Given the description of an element on the screen output the (x, y) to click on. 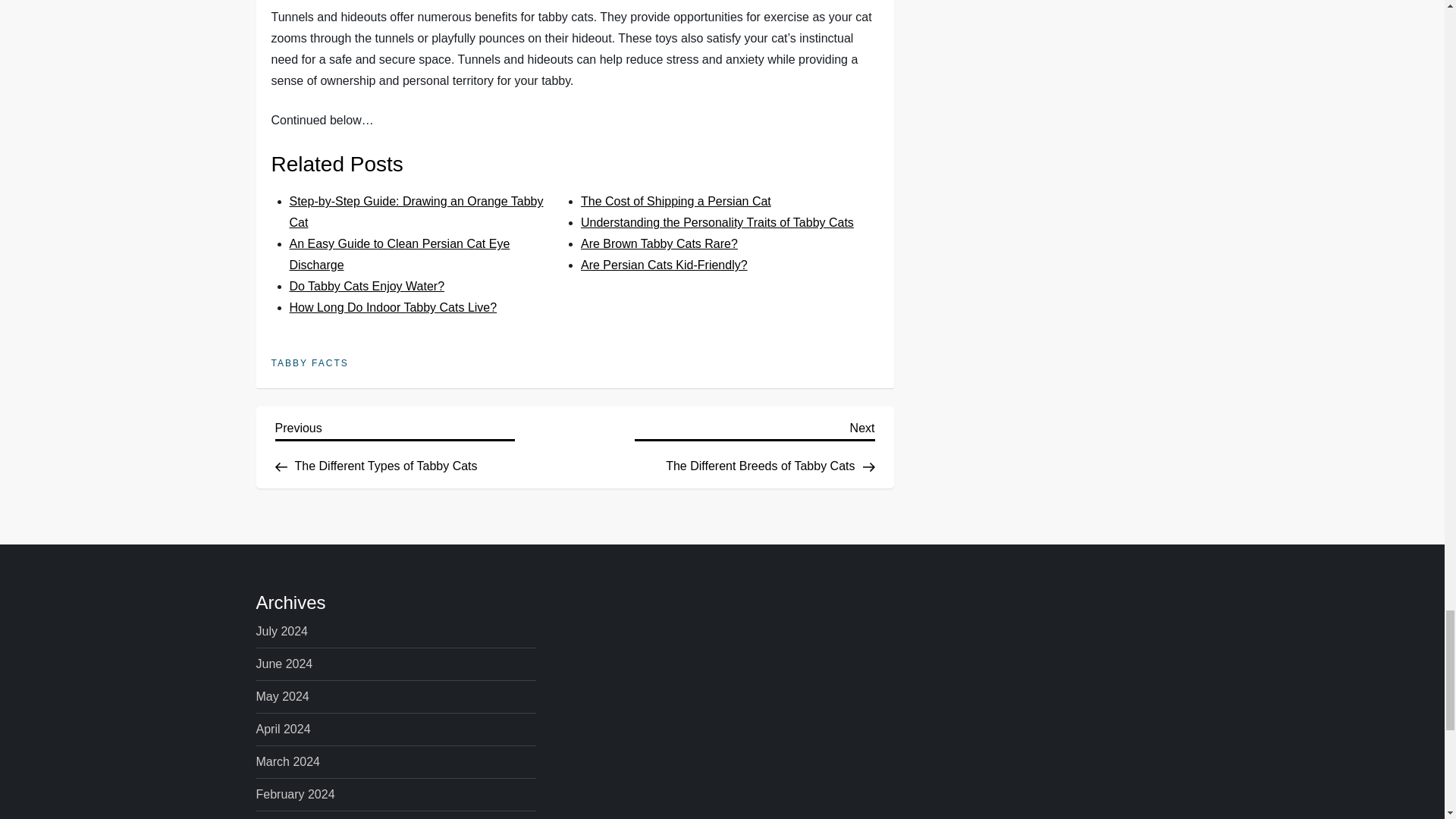
An Easy Guide to Clean Persian Cat Eye Discharge (400, 254)
Are Persian Cats Kid-Friendly? (394, 444)
How Long Do Indoor Tabby Cats Live? (664, 264)
Step-by-Step Guide: Drawing an Orange Tabby Cat (754, 444)
Do Tabby Cats Enjoy Water? (393, 307)
Understanding the Personality Traits of Tabby Cats (416, 211)
The Cost of Shipping a Persian Cat (367, 286)
Are Brown Tabby Cats Rare? (716, 222)
TABBY FACTS (675, 201)
